Given the description of an element on the screen output the (x, y) to click on. 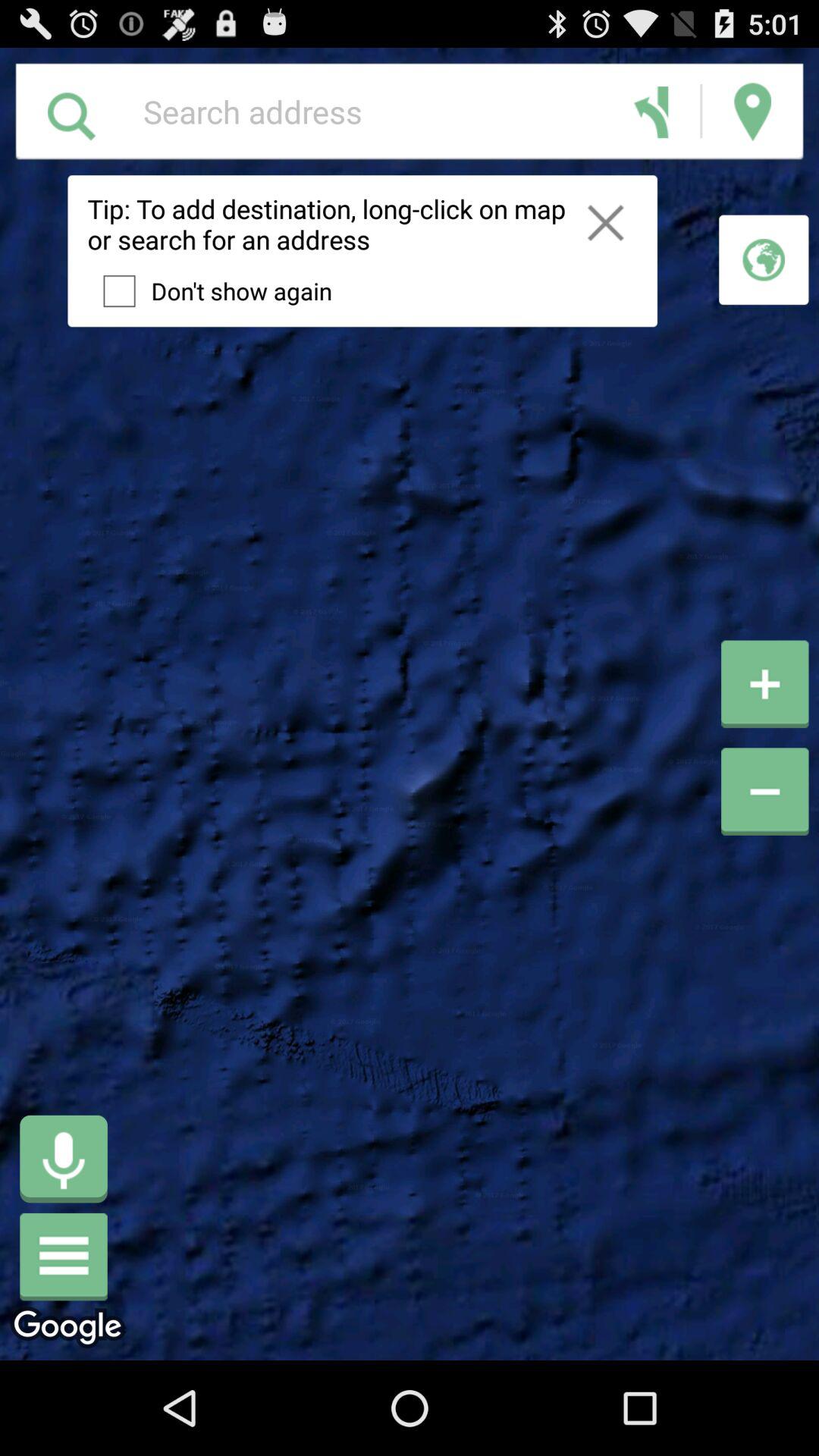
voice recognition (63, 1158)
